Given the description of an element on the screen output the (x, y) to click on. 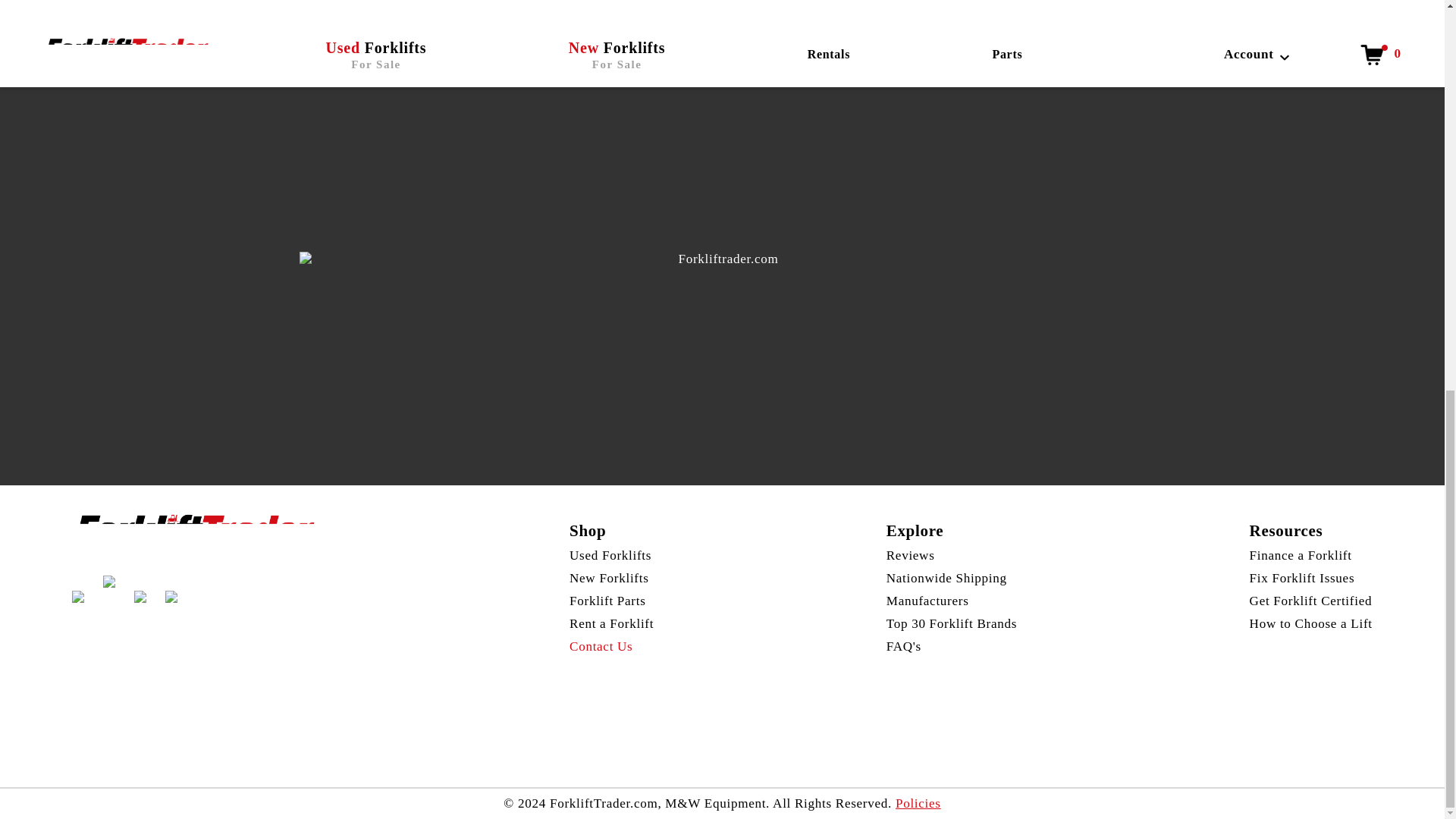
New Forklifts (609, 577)
Rent a Forklift (611, 623)
Contact Us (600, 646)
Forklift Parts (607, 600)
Used Forklifts (609, 554)
